Given the description of an element on the screen output the (x, y) to click on. 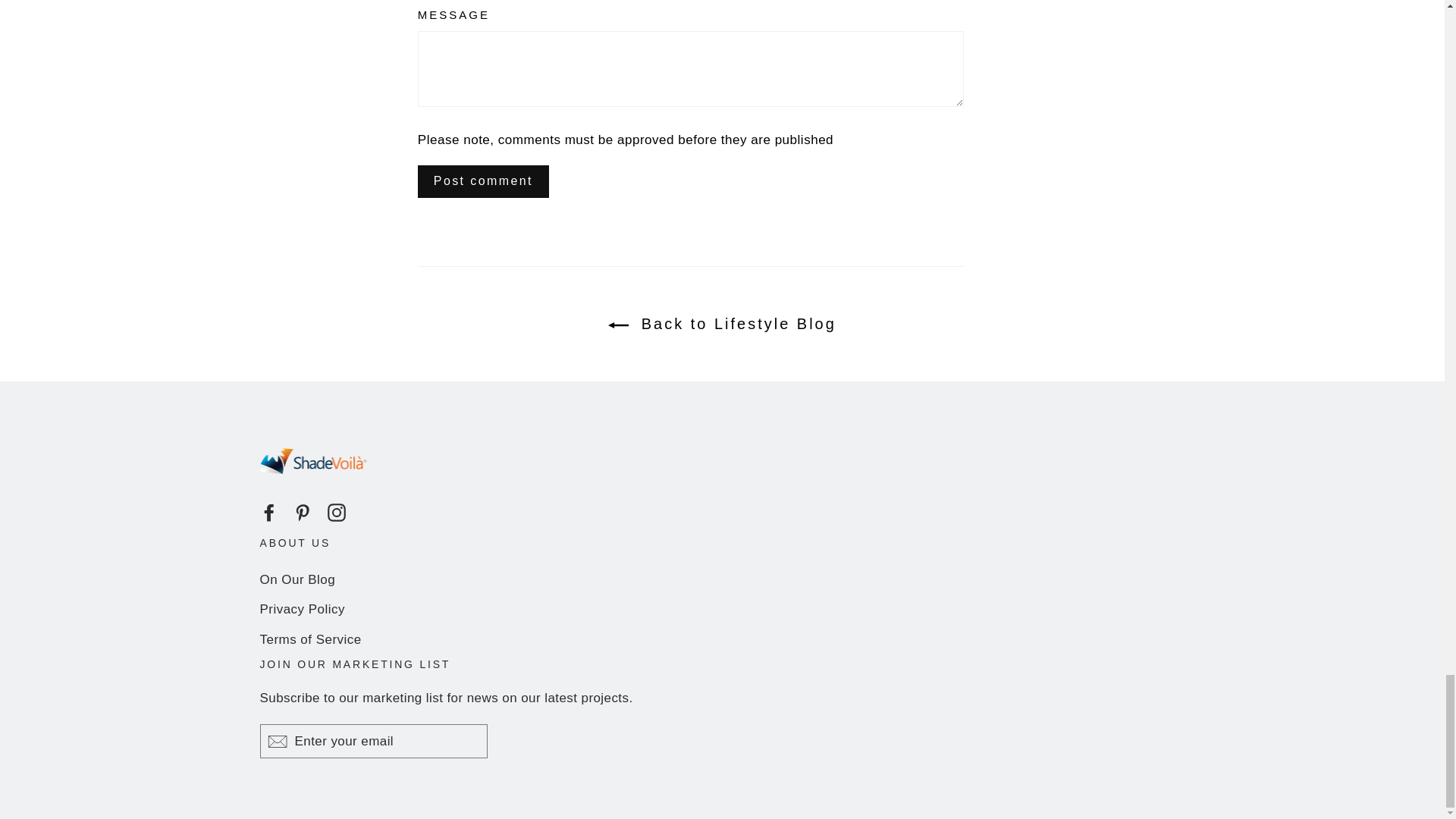
Post comment (482, 181)
Post comment (482, 181)
On Our Blog (722, 579)
Privacy Policy (722, 609)
Back to Lifestyle Blog (721, 323)
Terms of Service (722, 639)
